Given the description of an element on the screen output the (x, y) to click on. 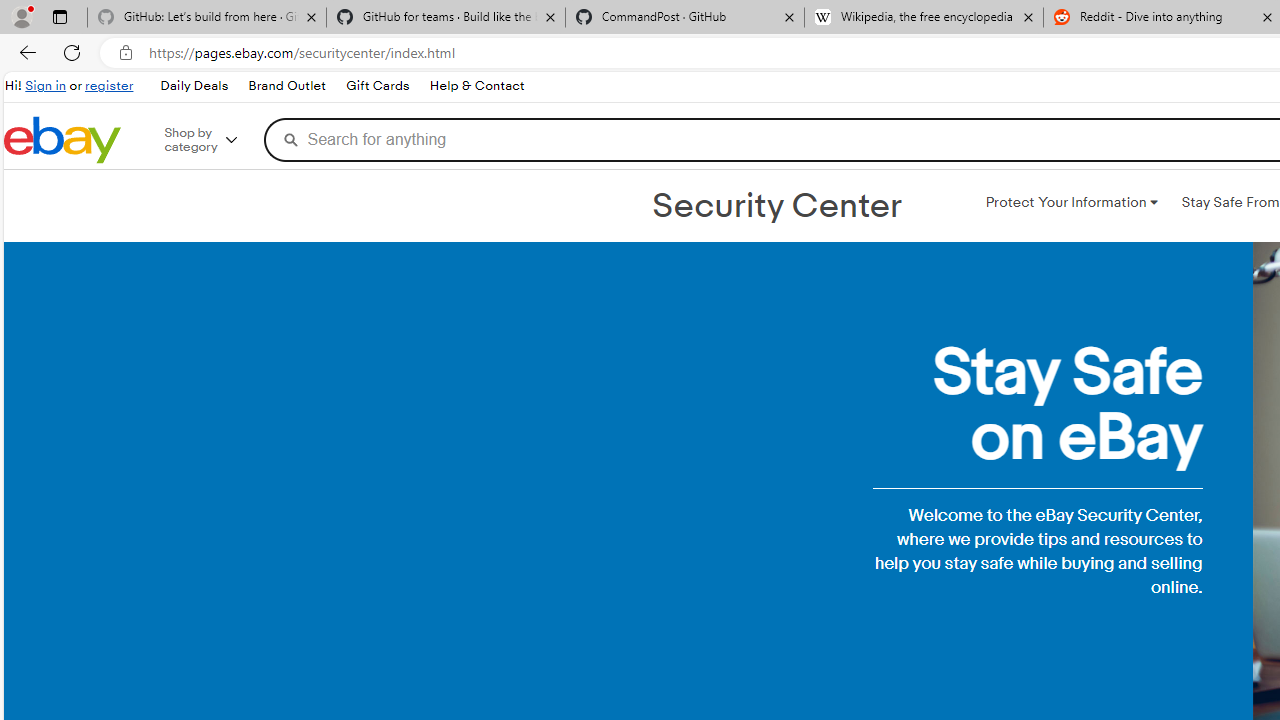
Brand Outlet (285, 85)
Brand Outlet (287, 86)
Protect Your Information  (1071, 202)
Daily Deals (193, 85)
Shop by category (213, 140)
Gift Cards (377, 86)
register (109, 85)
eBay Home (62, 139)
